Given the description of an element on the screen output the (x, y) to click on. 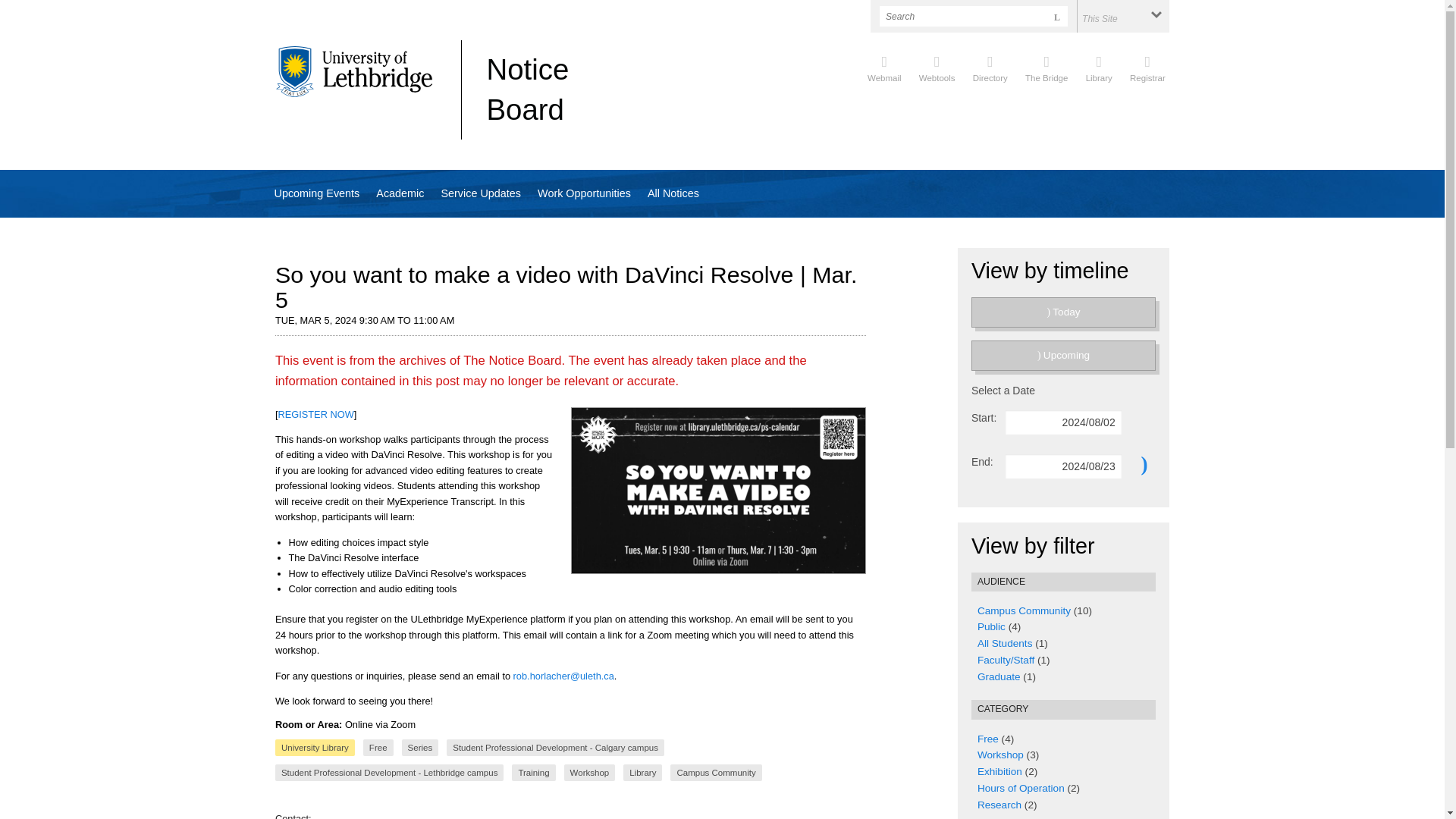
Campus Community (1023, 610)
Work Opportunities (584, 193)
Notice Board (527, 89)
L (1056, 15)
Workshop (999, 754)
Service Updates (480, 193)
All Notices (673, 193)
Webmail (884, 66)
The Bridge (1046, 66)
All Students (1004, 643)
Webtools (936, 66)
Graduate (998, 676)
Academic (399, 193)
Free (987, 738)
Notice Board - Home (527, 89)
